Given the description of an element on the screen output the (x, y) to click on. 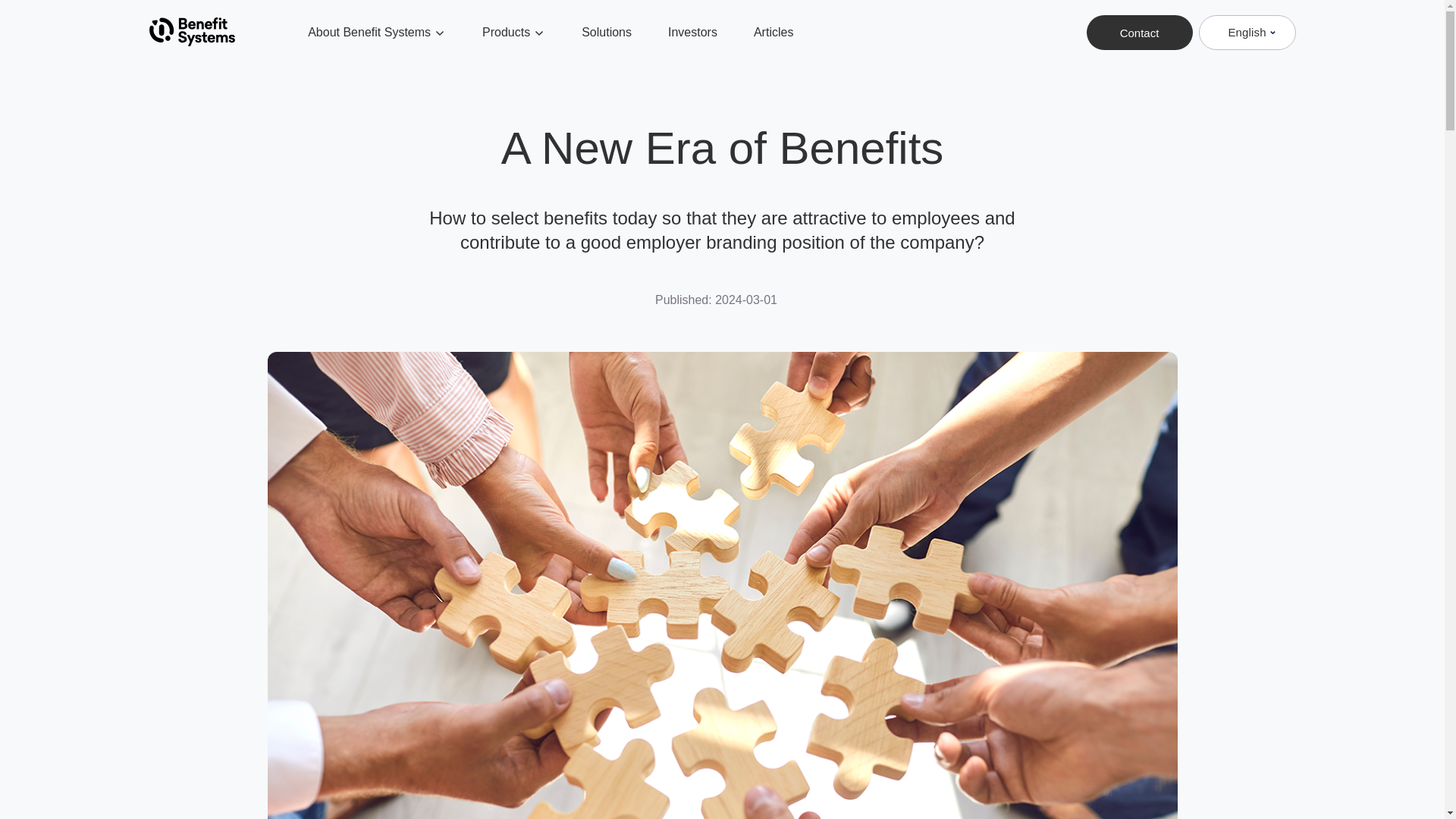
English (1247, 32)
Benefit Logo (191, 32)
Investors (692, 31)
Contact (1139, 32)
Solutions (605, 31)
Articles (773, 31)
